Given the description of an element on the screen output the (x, y) to click on. 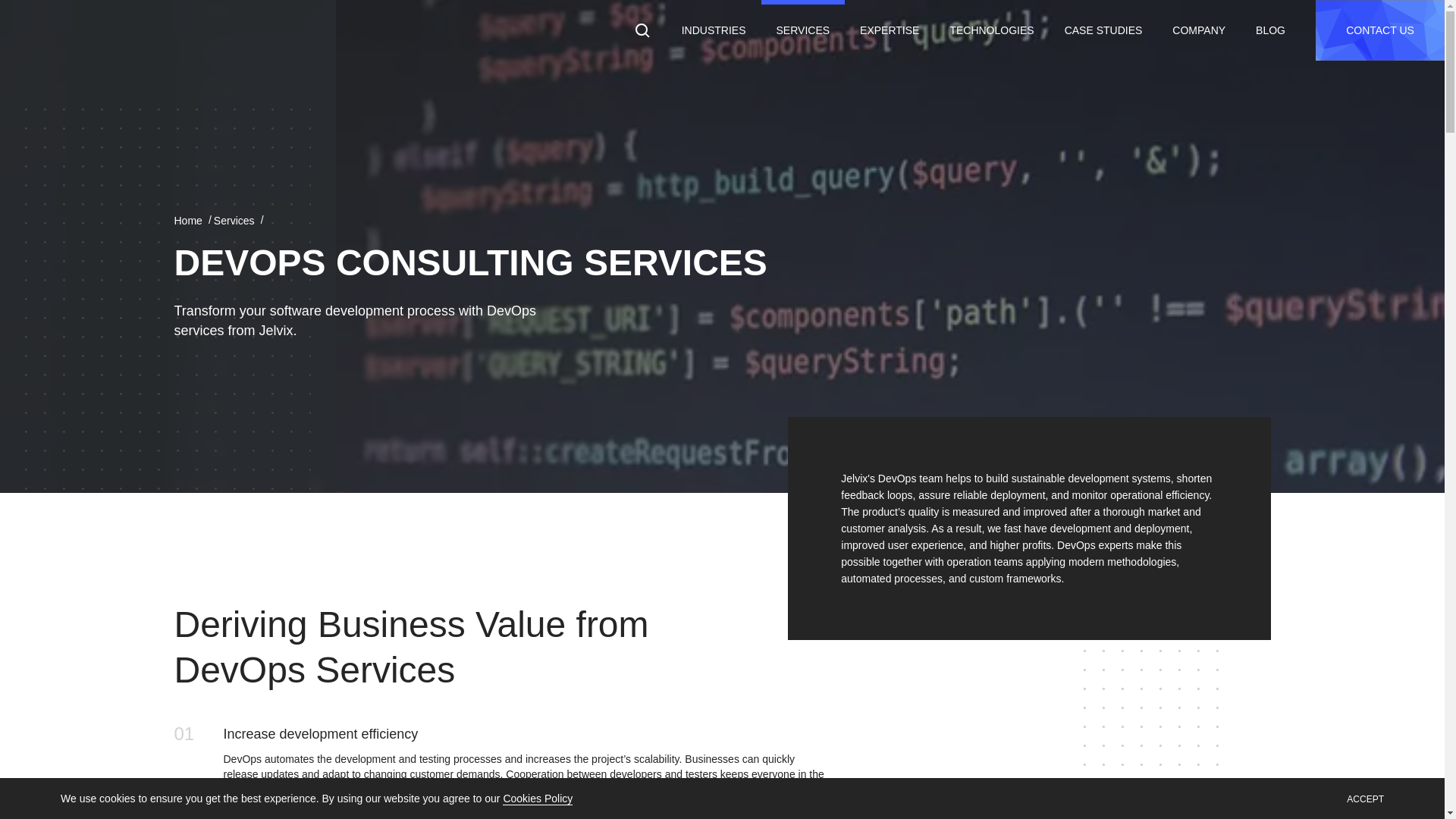
SERVICES (803, 30)
INDUSTRIES (713, 30)
EXPERTISE (889, 30)
TECHNOLOGIES (991, 30)
Search (22, 6)
